Given the description of an element on the screen output the (x, y) to click on. 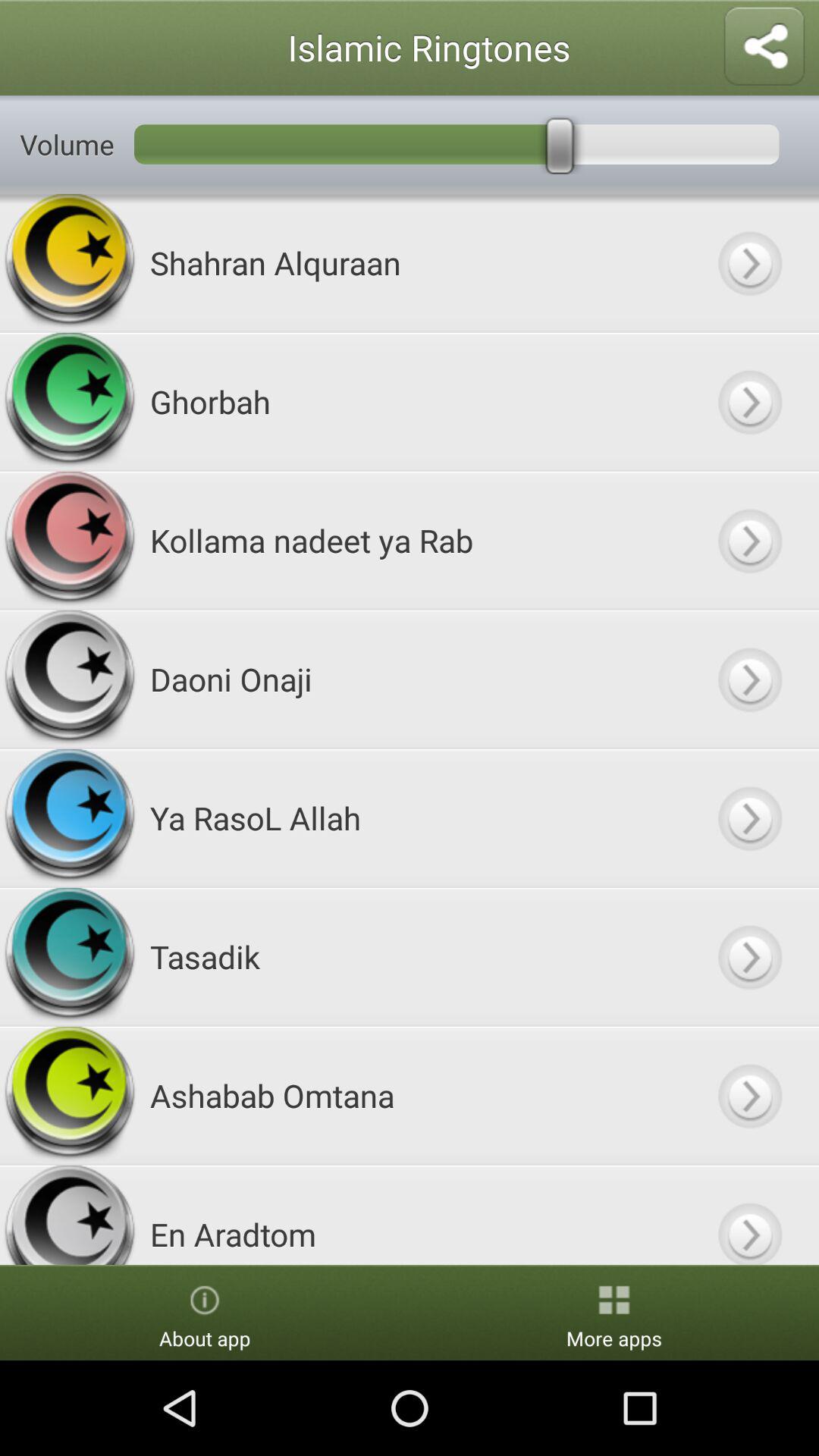
share (764, 47)
